Given the description of an element on the screen output the (x, y) to click on. 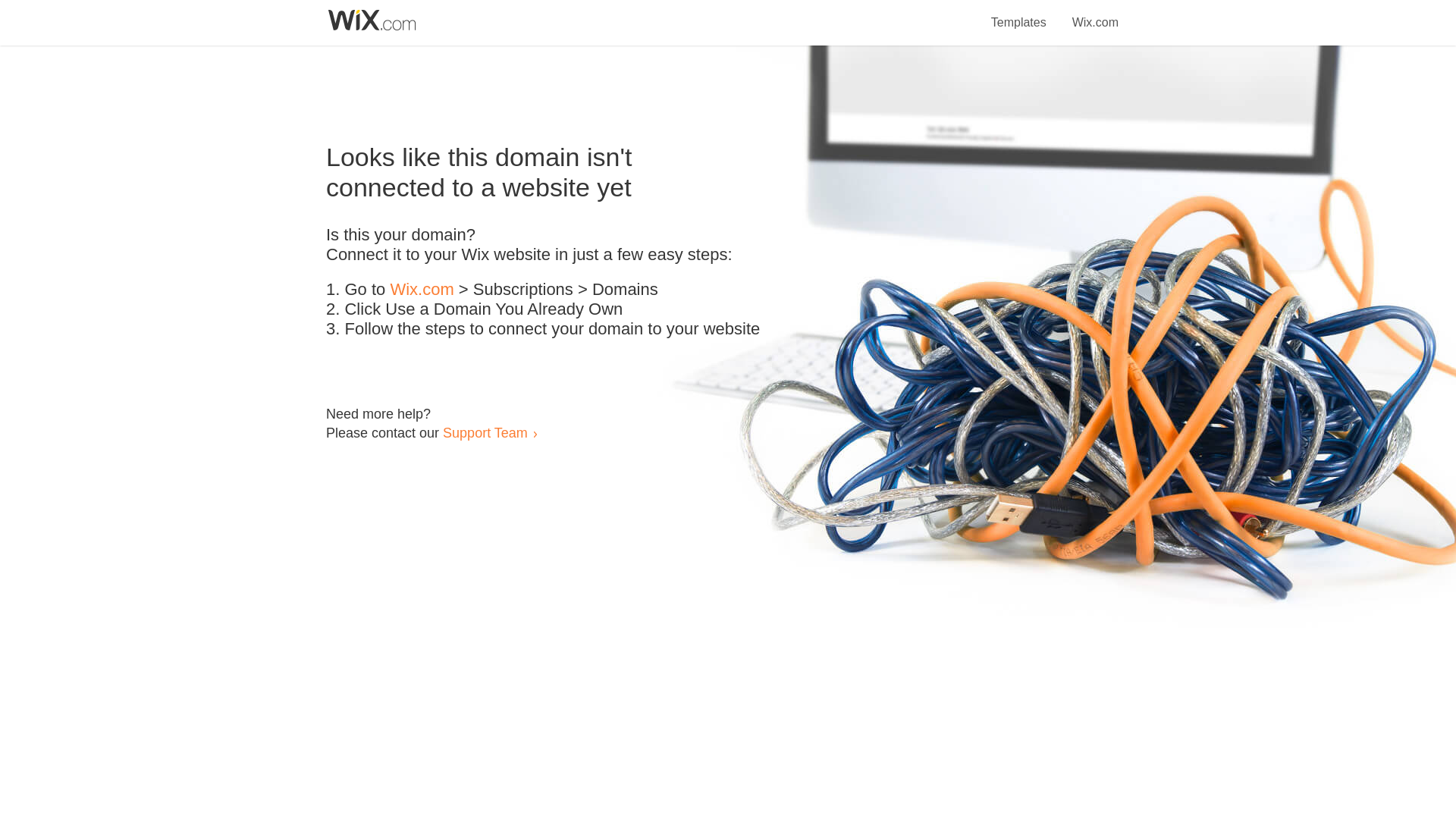
Support Team (484, 432)
Wix.com (1095, 14)
Wix.com (421, 289)
Templates (1018, 14)
